Given the description of an element on the screen output the (x, y) to click on. 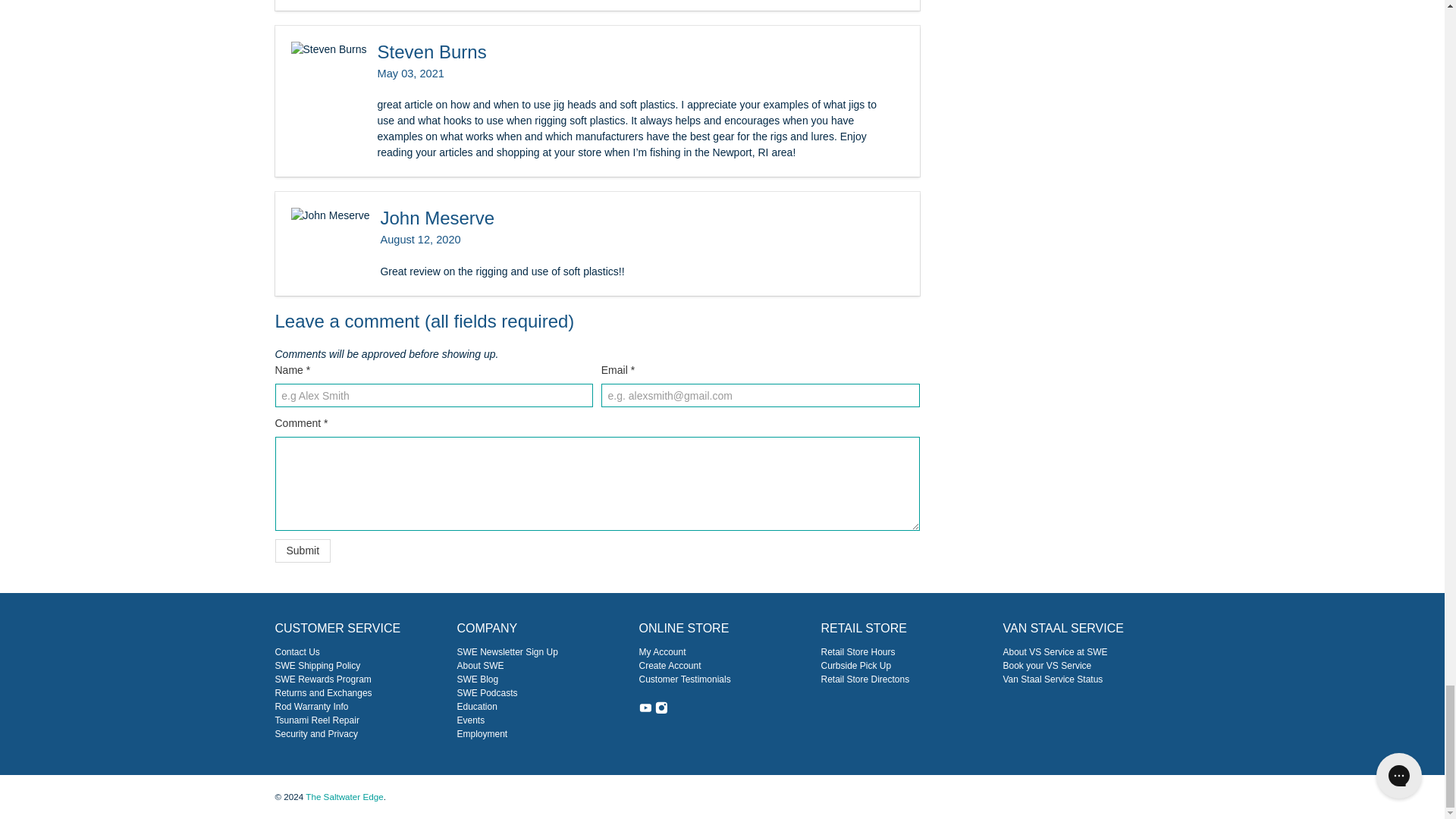
Submit (302, 550)
